Given the description of an element on the screen output the (x, y) to click on. 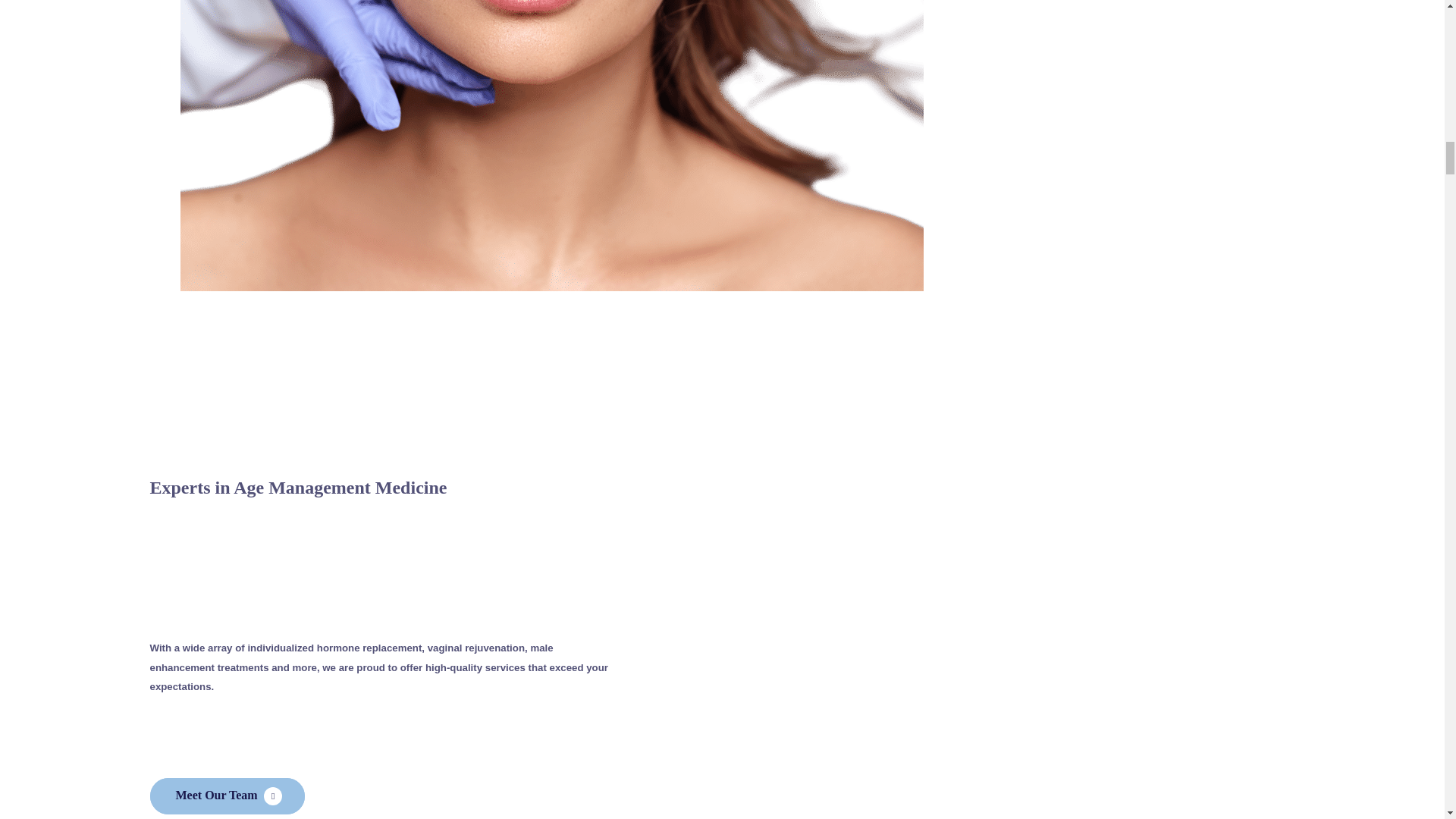
Meet Our Team (226, 796)
